Given the description of an element on the screen output the (x, y) to click on. 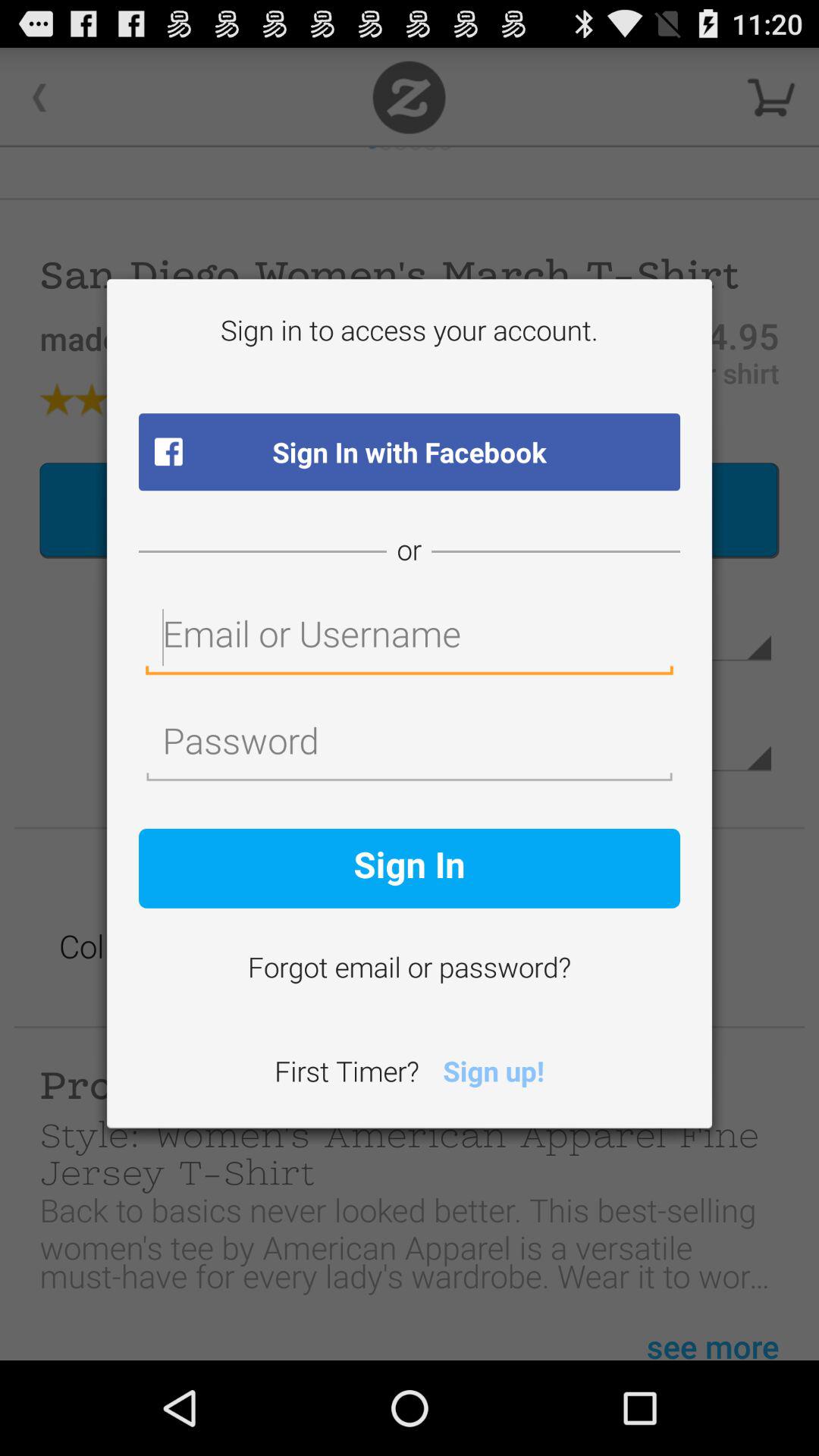
flip until sign up! icon (493, 1073)
